Given the description of an element on the screen output the (x, y) to click on. 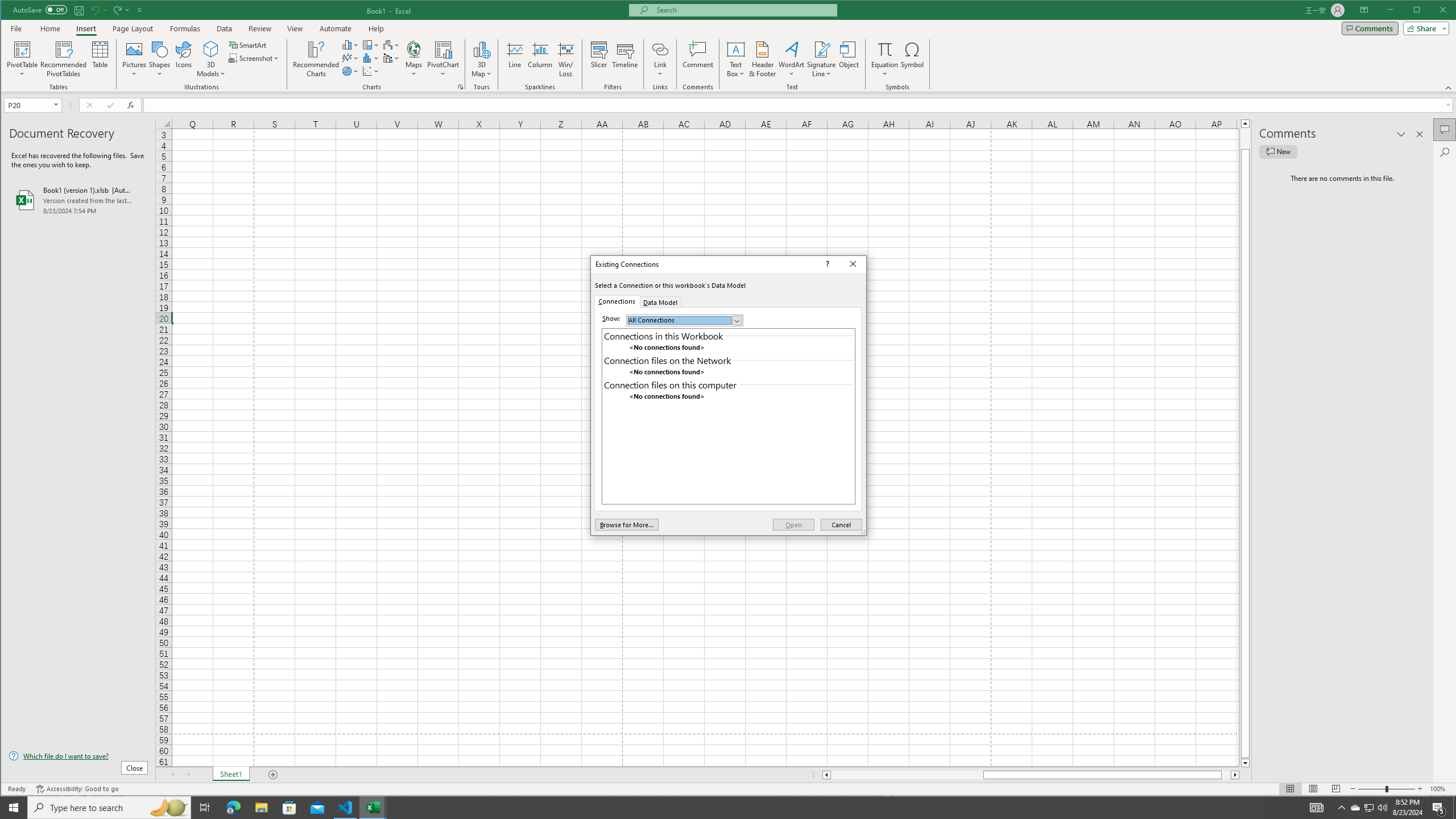
Insert Pie or Doughnut Chart (350, 70)
AutomationID: 4105 (1316, 807)
Recommended PivotTables (63, 59)
Data Model (660, 300)
<No connections found> (728, 396)
Cancel (841, 524)
New comment (1278, 151)
